Given the description of an element on the screen output the (x, y) to click on. 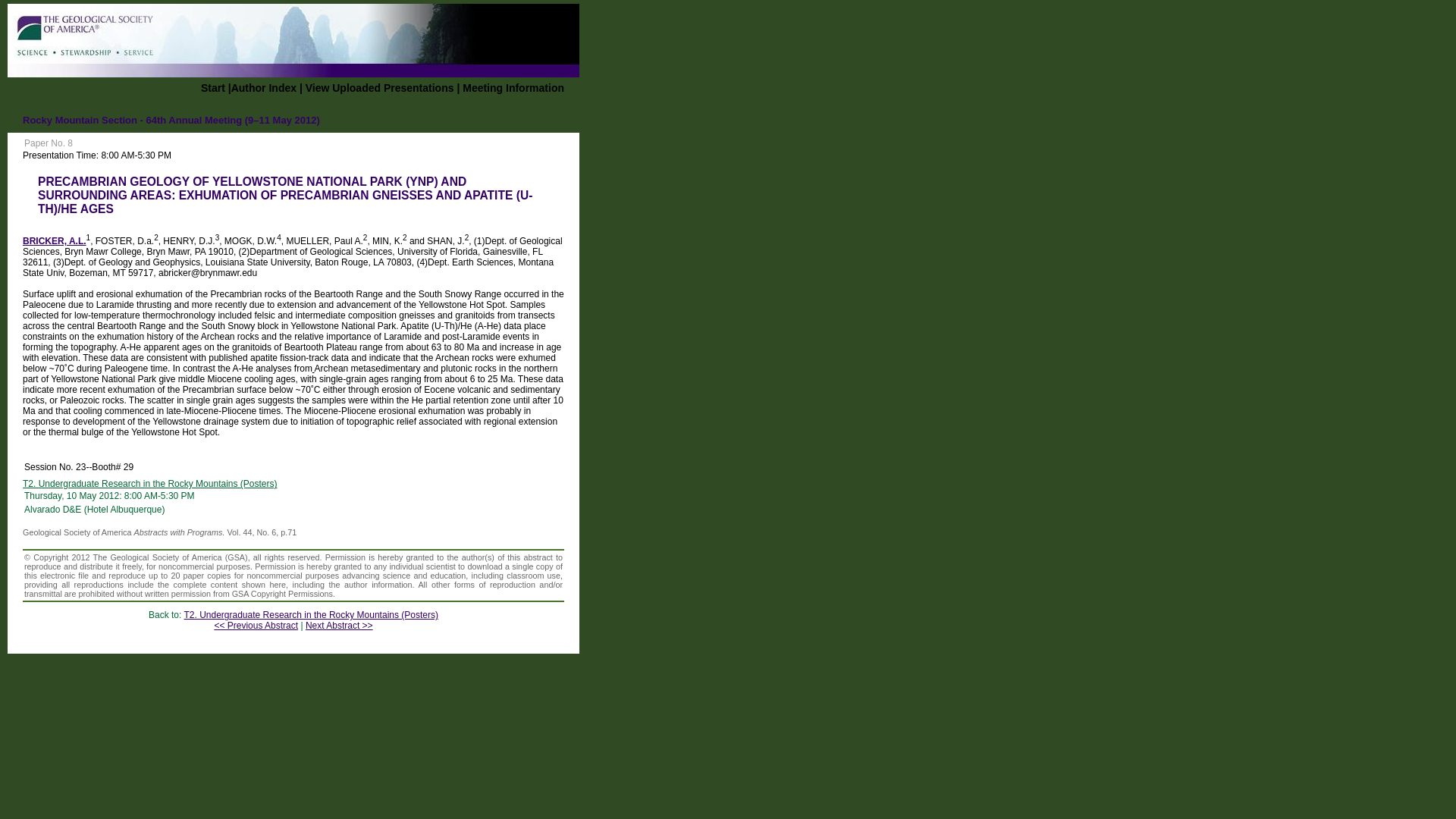
BRICKER, A.L. (54, 240)
Author Index (264, 87)
Meeting Information (513, 87)
View Uploaded Presentations (379, 87)
Start (212, 87)
